Given the description of an element on the screen output the (x, y) to click on. 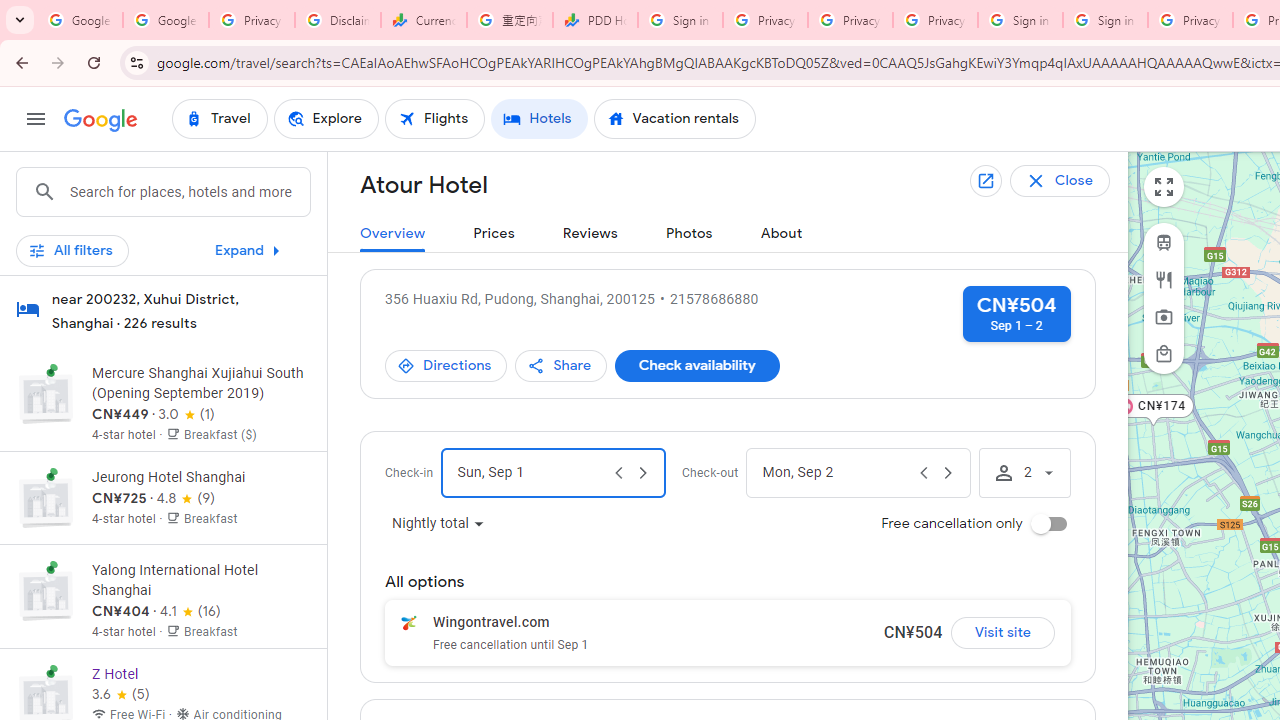
Travel (219, 118)
Flights (435, 118)
Areas for shopping (1163, 353)
Back to list of all results (1075, 180)
Vacation rentals (674, 118)
Prices (493, 233)
3 out of 5 stars from 1 reviews (186, 414)
4.8 out of 5 stars from 9 reviews (185, 498)
Visit site for Wingontravel.com (1001, 632)
